Given the description of an element on the screen output the (x, y) to click on. 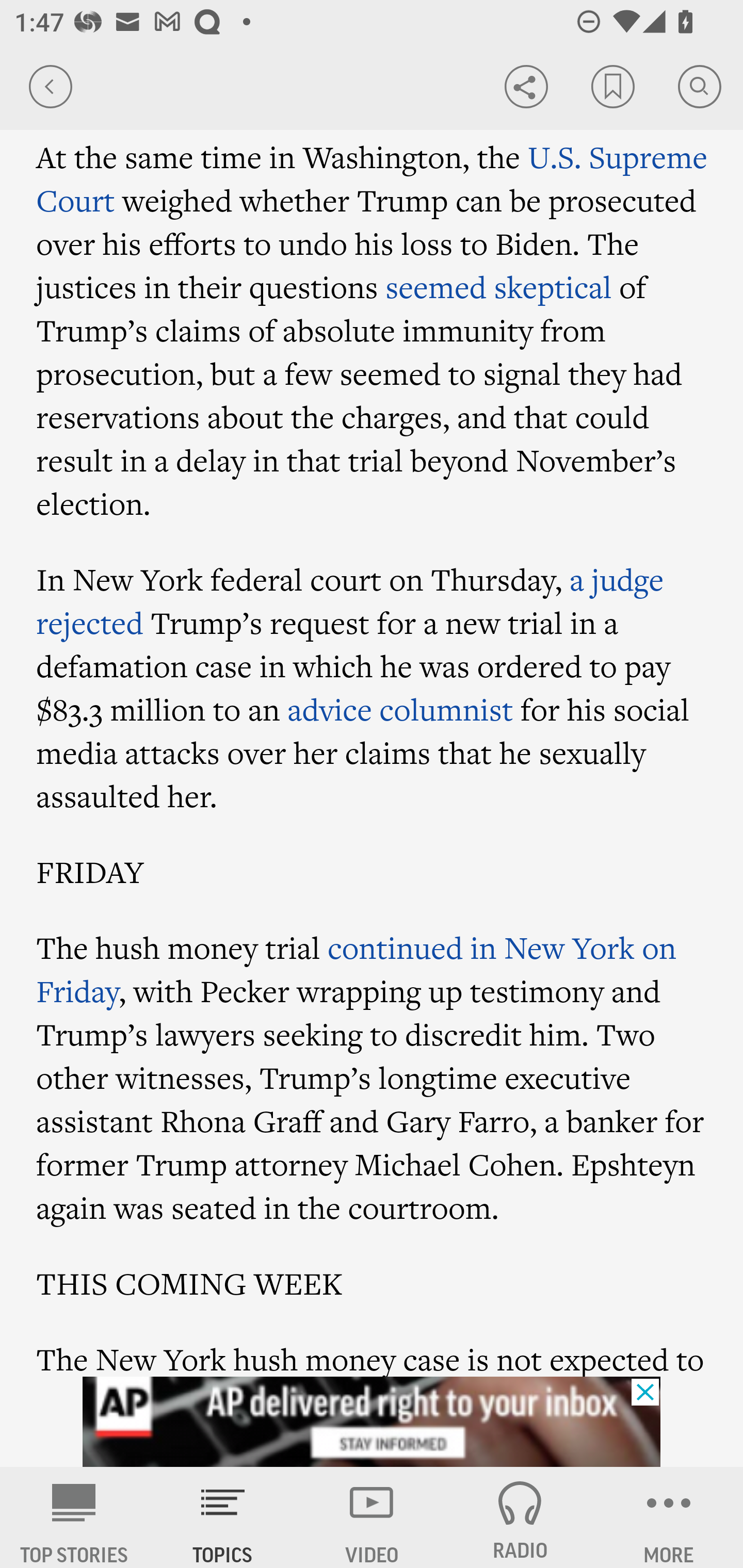
U.S. Supreme Court (372, 177)
seemed skeptical (498, 286)
a judge rejected (350, 601)
advice columnist (400, 708)
continued in New York on Friday (356, 968)
AP News TOP STORIES (74, 1517)
TOPICS (222, 1517)
VIDEO (371, 1517)
RADIO (519, 1517)
MORE (668, 1517)
